Given the description of an element on the screen output the (x, y) to click on. 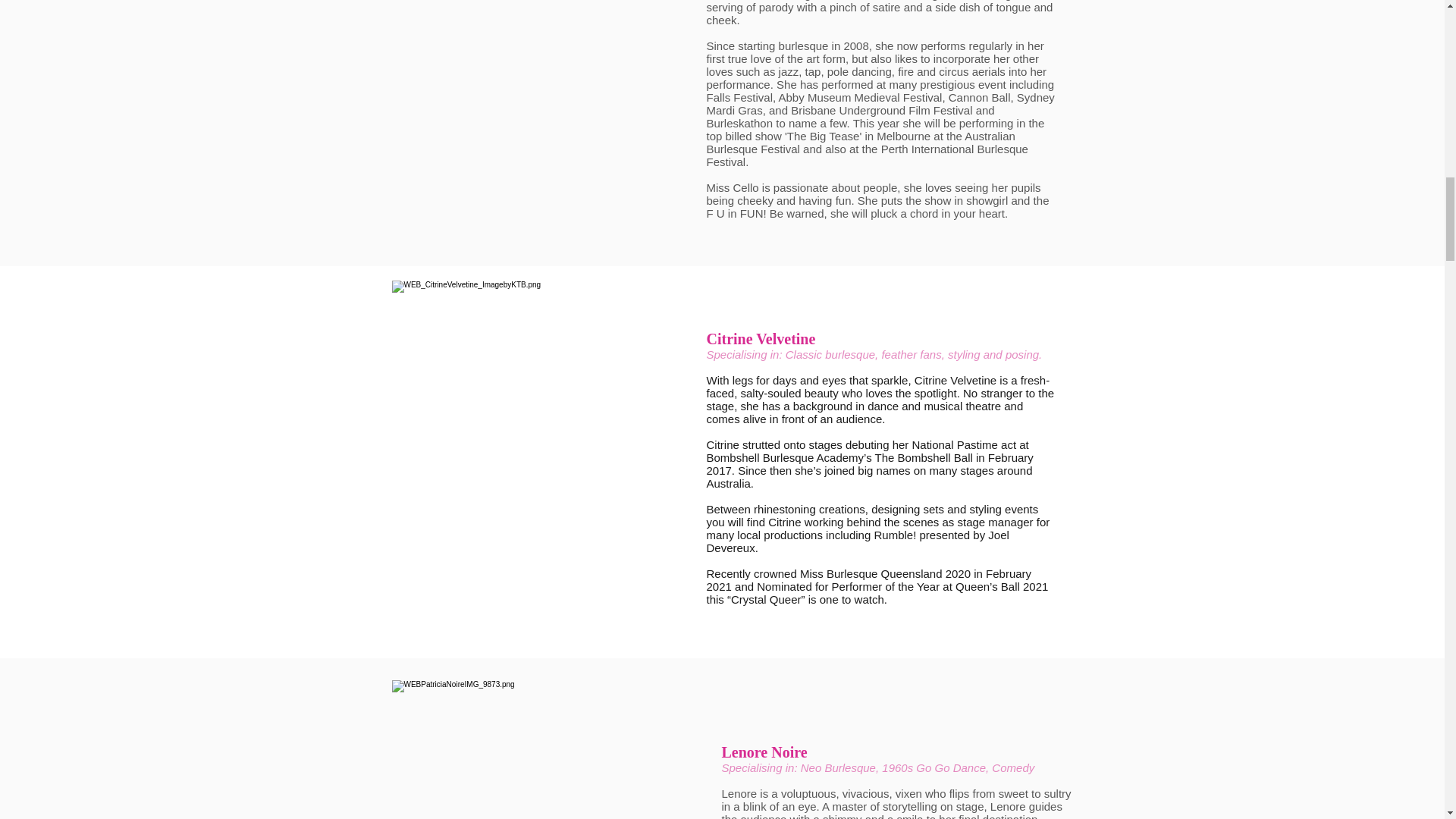
BombshellsCloudlandPUP-Light-5.jpg (542, 119)
